Given the description of an element on the screen output the (x, y) to click on. 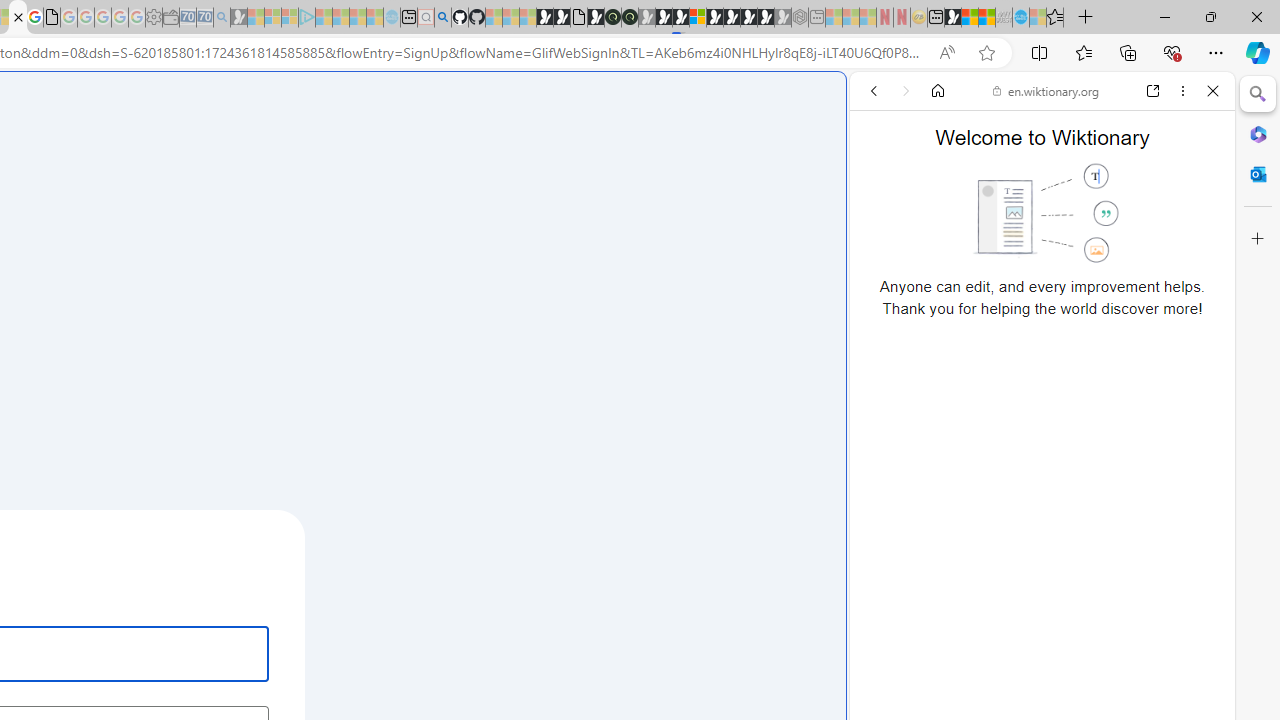
Frequently visited (418, 265)
Close split screen (844, 102)
